Given the description of an element on the screen output the (x, y) to click on. 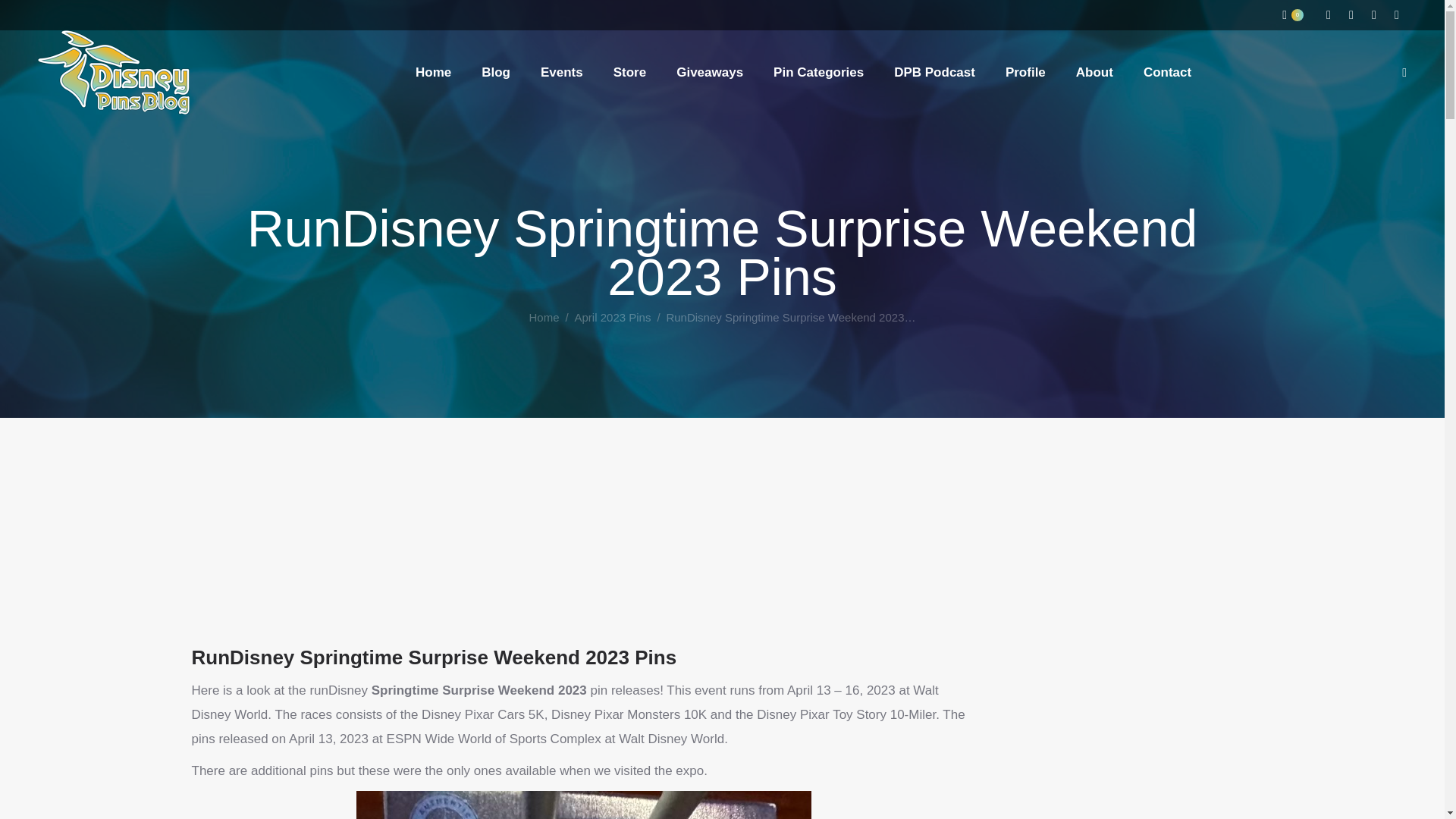
YouTube page opens in new window (1374, 14)
DPB Podcast (934, 72)
X page opens in new window (1396, 14)
 0 (1292, 14)
Facebook page opens in new window (1350, 14)
Instagram page opens in new window (1328, 14)
YouTube page opens in new window (1374, 14)
Instagram page opens in new window (1328, 14)
April 2023 Pins (612, 317)
Pin Categories (818, 72)
X page opens in new window (1396, 14)
Facebook page opens in new window (1350, 14)
Giveaways (709, 72)
Home (544, 317)
